Given the description of an element on the screen output the (x, y) to click on. 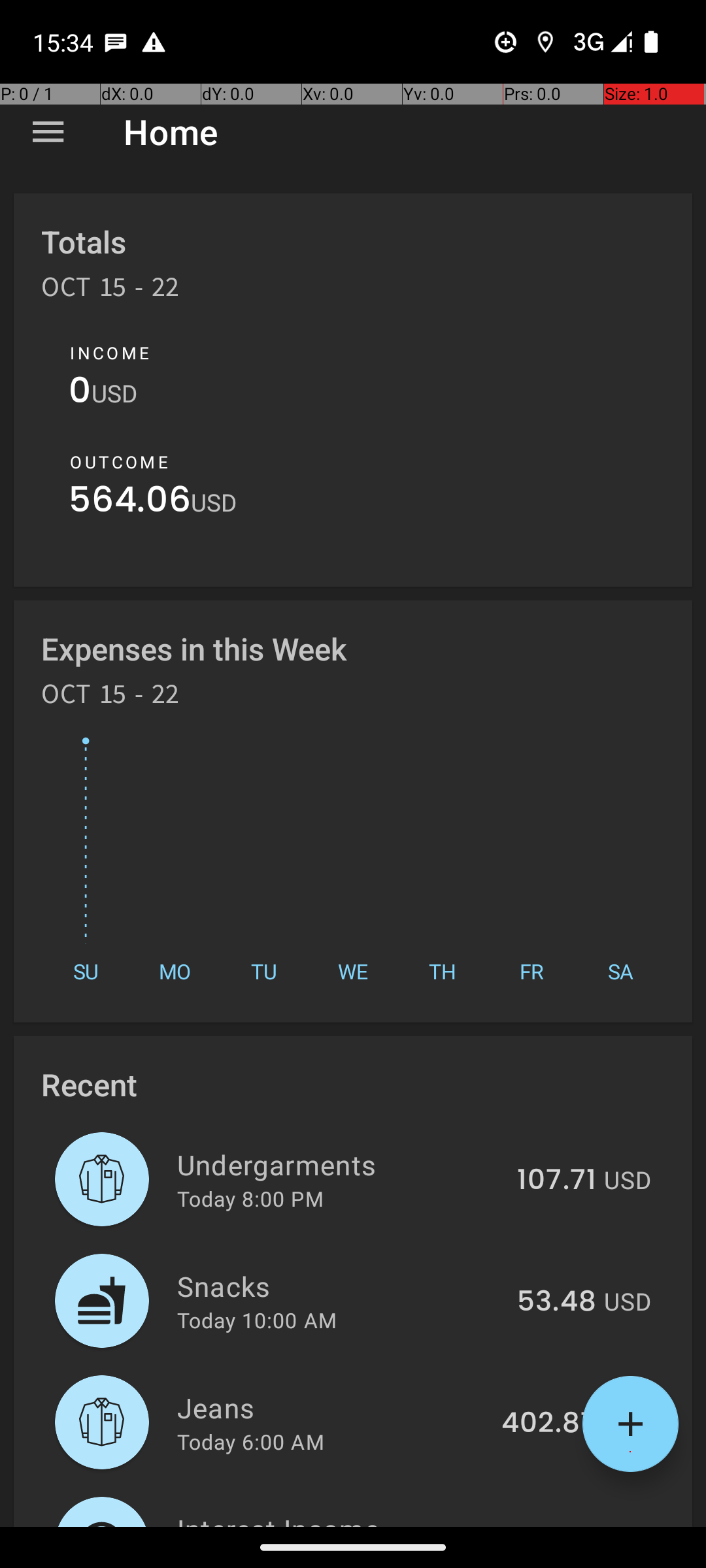
564.06 Element type: android.widget.TextView (129, 502)
Undergarments Element type: android.widget.TextView (339, 1164)
Today 8:00 PM Element type: android.widget.TextView (250, 1198)
107.71 Element type: android.widget.TextView (556, 1180)
Snacks Element type: android.widget.TextView (339, 1285)
Today 10:00 AM Element type: android.widget.TextView (256, 1320)
53.48 Element type: android.widget.TextView (556, 1301)
Jeans Element type: android.widget.TextView (331, 1407)
Today 6:00 AM Element type: android.widget.TextView (250, 1441)
402.87 Element type: android.widget.TextView (548, 1423)
Interest Income Element type: android.widget.TextView (332, 1518)
283.32 Element type: android.widget.TextView (549, 1524)
